Given the description of an element on the screen output the (x, y) to click on. 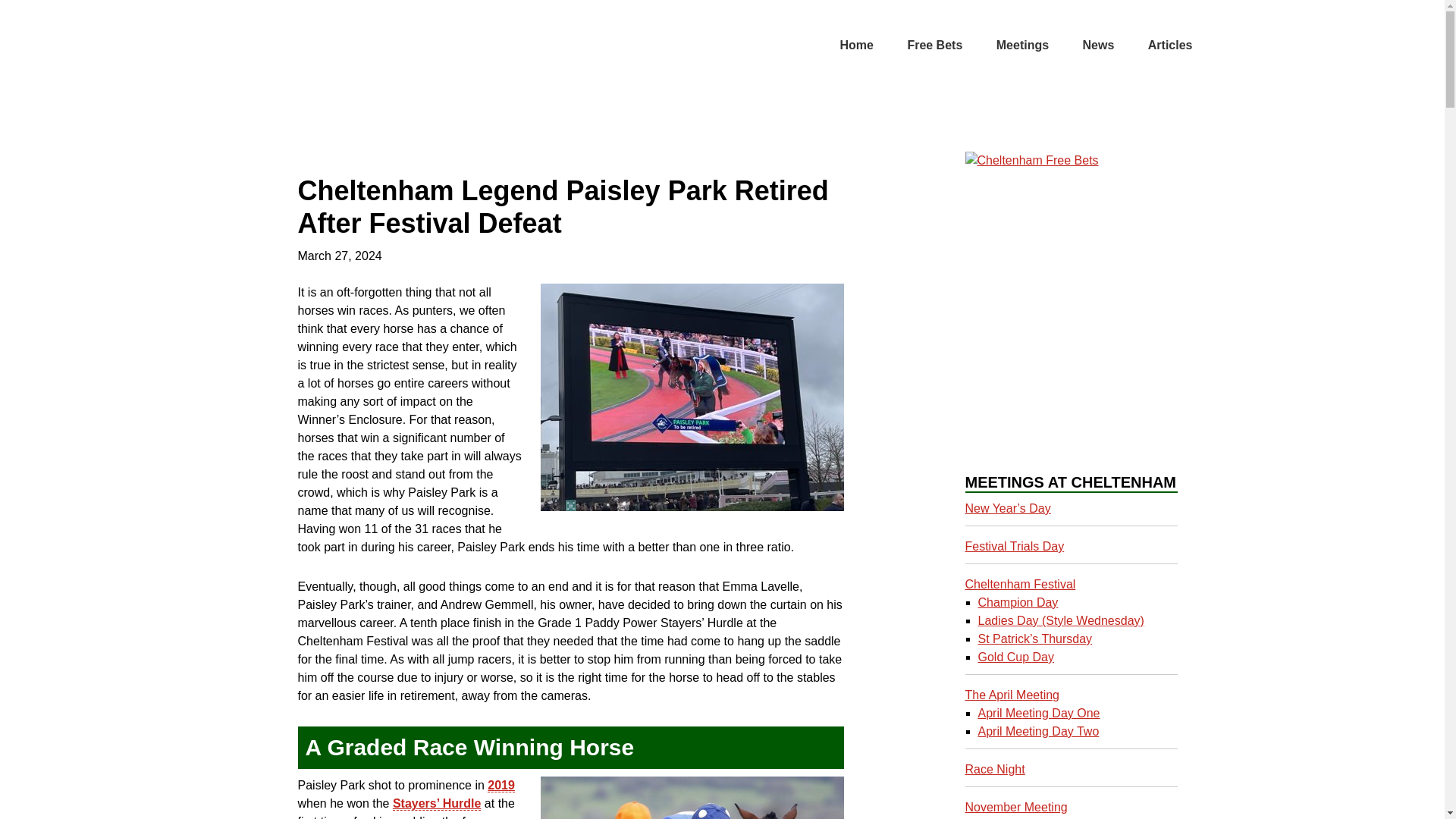
April Meeting Day Two (1038, 730)
Meetings (1022, 45)
Champion Day (1018, 602)
2019 (501, 785)
Festival Trials Day (1013, 545)
November Meeting (1015, 807)
Free Bets (933, 45)
Cheltenham Betting Offers (349, 45)
The April Meeting (1011, 694)
Race Night (994, 768)
April Meeting Day One (1039, 712)
Articles (1170, 45)
Cheltenham Festival (1019, 584)
News (1098, 45)
